Given the description of an element on the screen output the (x, y) to click on. 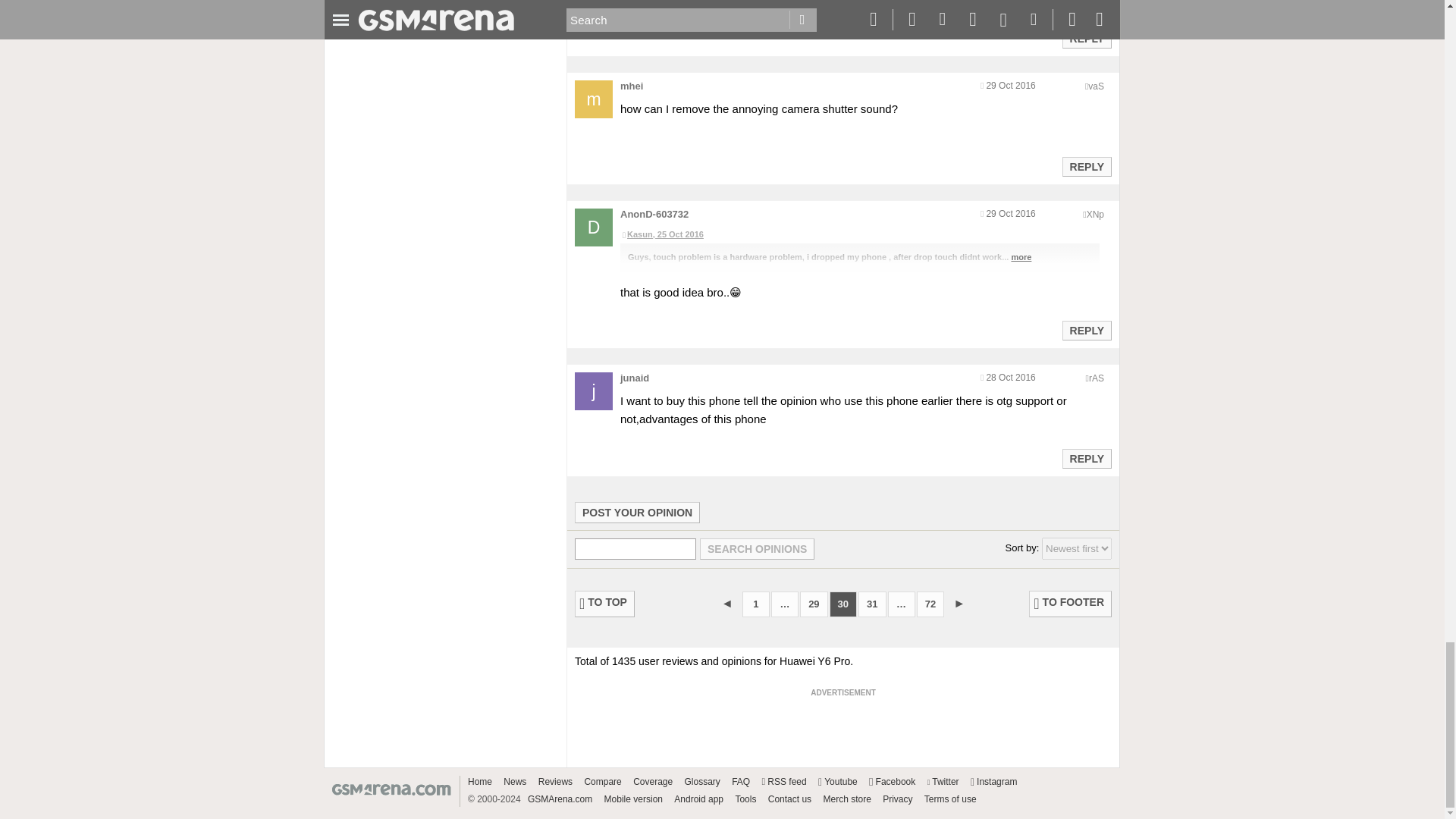
TO TOP (604, 603)
Search opinions (756, 548)
